Given the description of an element on the screen output the (x, y) to click on. 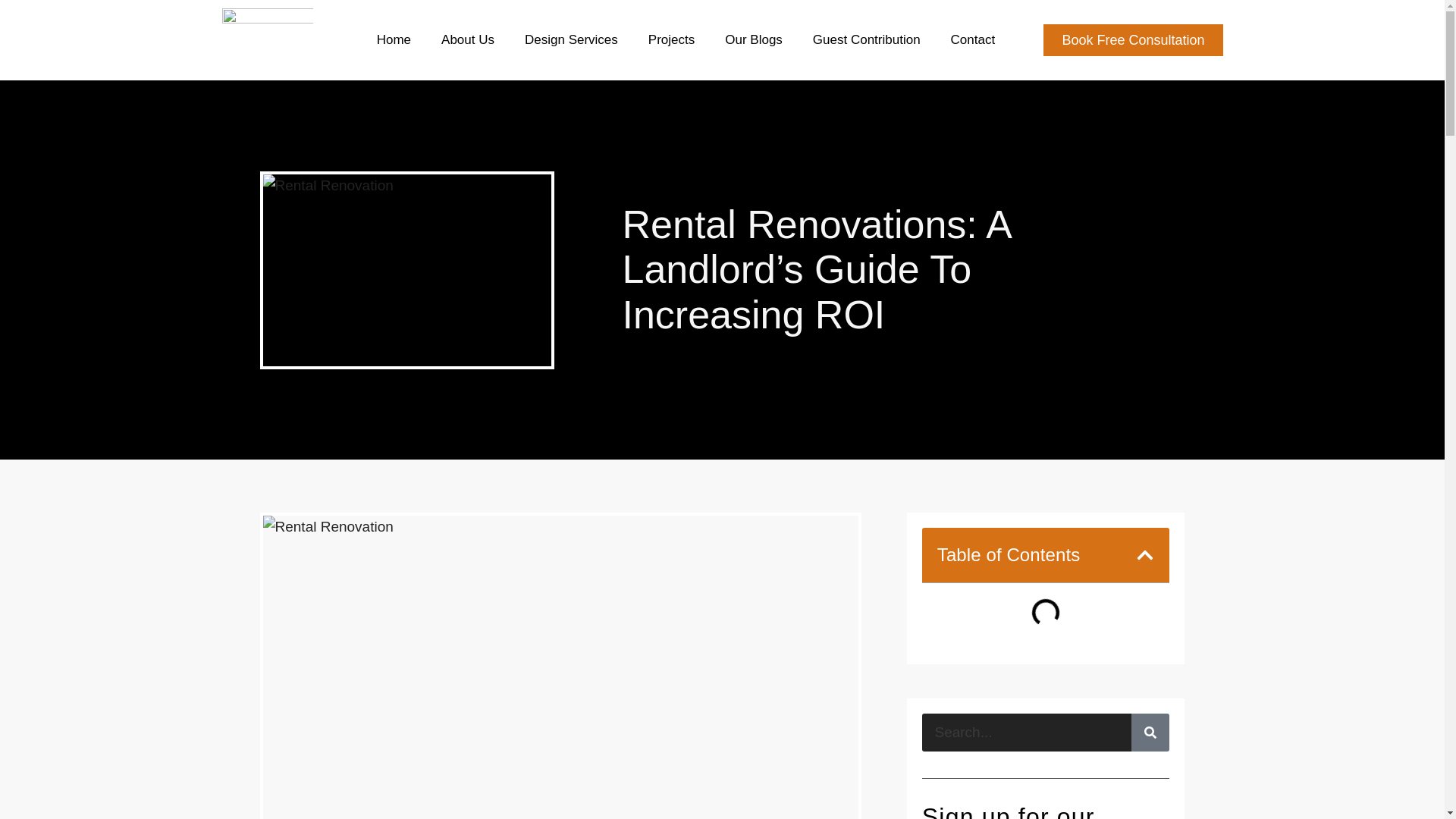
Our Blogs (753, 39)
About Us (467, 39)
Design Services (570, 39)
Projects (671, 39)
Guest Contribution (866, 39)
Book Free Consultation (1133, 40)
Contact (973, 39)
Home (393, 39)
